Given the description of an element on the screen output the (x, y) to click on. 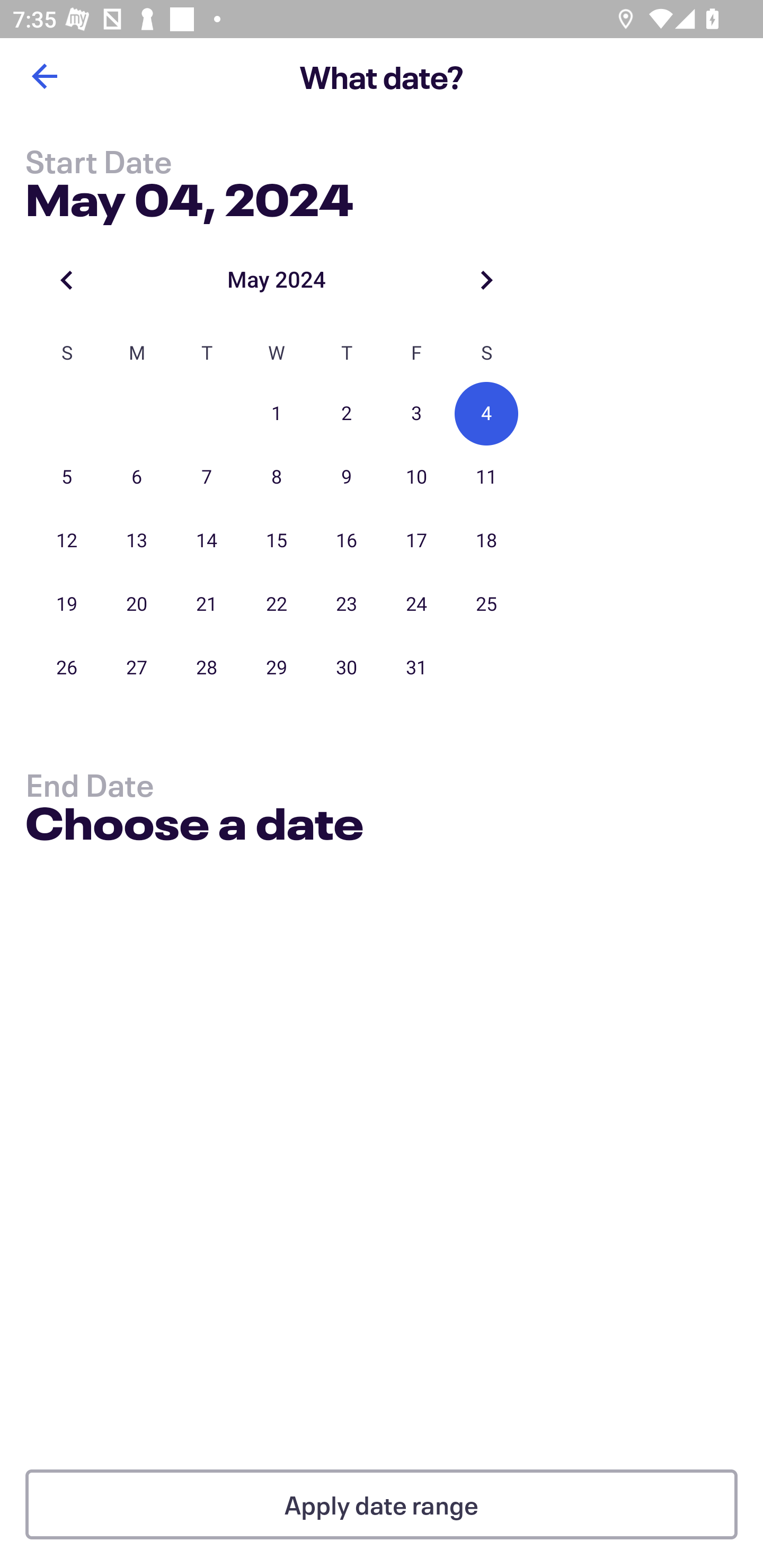
Back button (44, 75)
May 04, 2024 (189, 195)
Previous month (66, 279)
Next month (486, 279)
1 01 May 2024 (276, 413)
2 02 May 2024 (346, 413)
3 03 May 2024 (416, 413)
4 04 May 2024 (486, 413)
5 05 May 2024 (66, 477)
6 06 May 2024 (136, 477)
7 07 May 2024 (206, 477)
8 08 May 2024 (276, 477)
9 09 May 2024 (346, 477)
10 10 May 2024 (416, 477)
11 11 May 2024 (486, 477)
12 12 May 2024 (66, 540)
13 13 May 2024 (136, 540)
14 14 May 2024 (206, 540)
15 15 May 2024 (276, 540)
16 16 May 2024 (346, 540)
17 17 May 2024 (416, 540)
18 18 May 2024 (486, 540)
19 19 May 2024 (66, 604)
20 20 May 2024 (136, 604)
21 21 May 2024 (206, 604)
22 22 May 2024 (276, 604)
23 23 May 2024 (346, 604)
24 24 May 2024 (416, 604)
25 25 May 2024 (486, 604)
26 26 May 2024 (66, 667)
27 27 May 2024 (136, 667)
28 28 May 2024 (206, 667)
29 29 May 2024 (276, 667)
30 30 May 2024 (346, 667)
31 31 May 2024 (416, 667)
Choose a date (194, 826)
Apply date range (381, 1504)
